Given the description of an element on the screen output the (x, y) to click on. 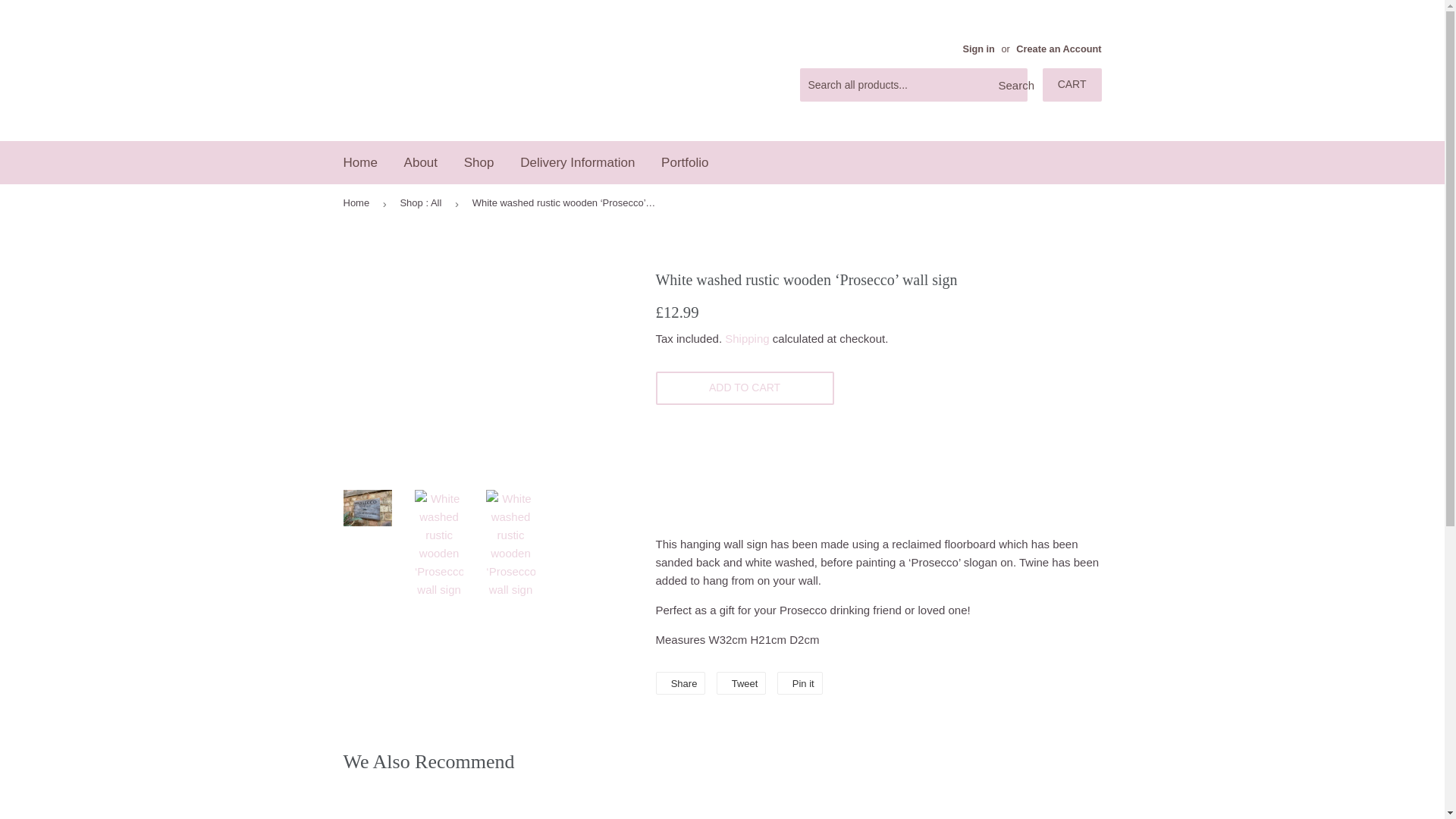
Home (359, 162)
Sign in (978, 48)
Search (1009, 85)
Shop : All (422, 203)
About (420, 162)
CART (1072, 84)
Pin on Pinterest (799, 682)
Create an Account (1058, 48)
Delivery Information (577, 162)
Share on Facebook (679, 682)
